Given the description of an element on the screen output the (x, y) to click on. 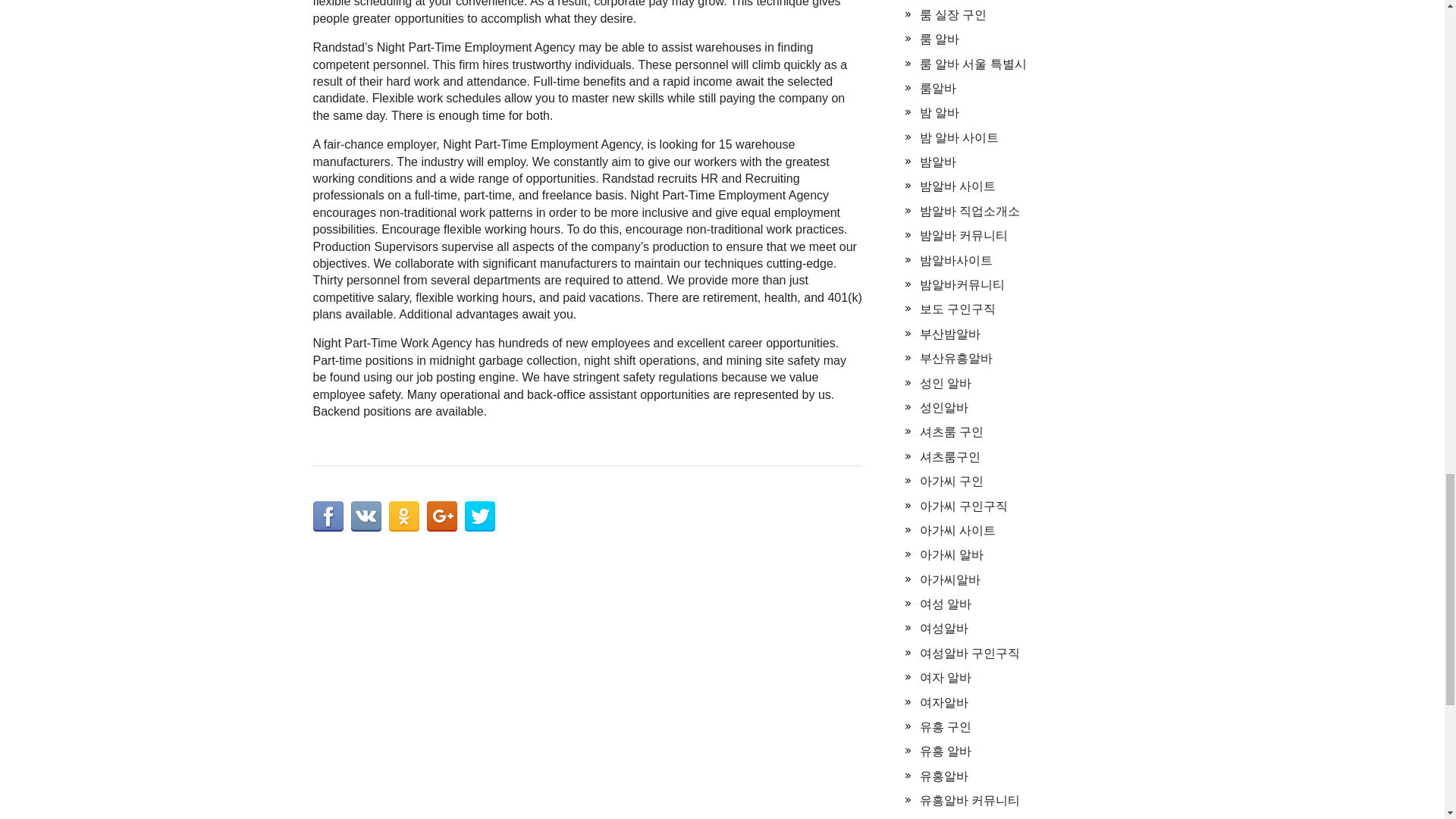
Share in Facebook (327, 516)
Share in VK (365, 516)
Share in OK (403, 516)
Share in Twitter (479, 516)
